Given the description of an element on the screen output the (x, y) to click on. 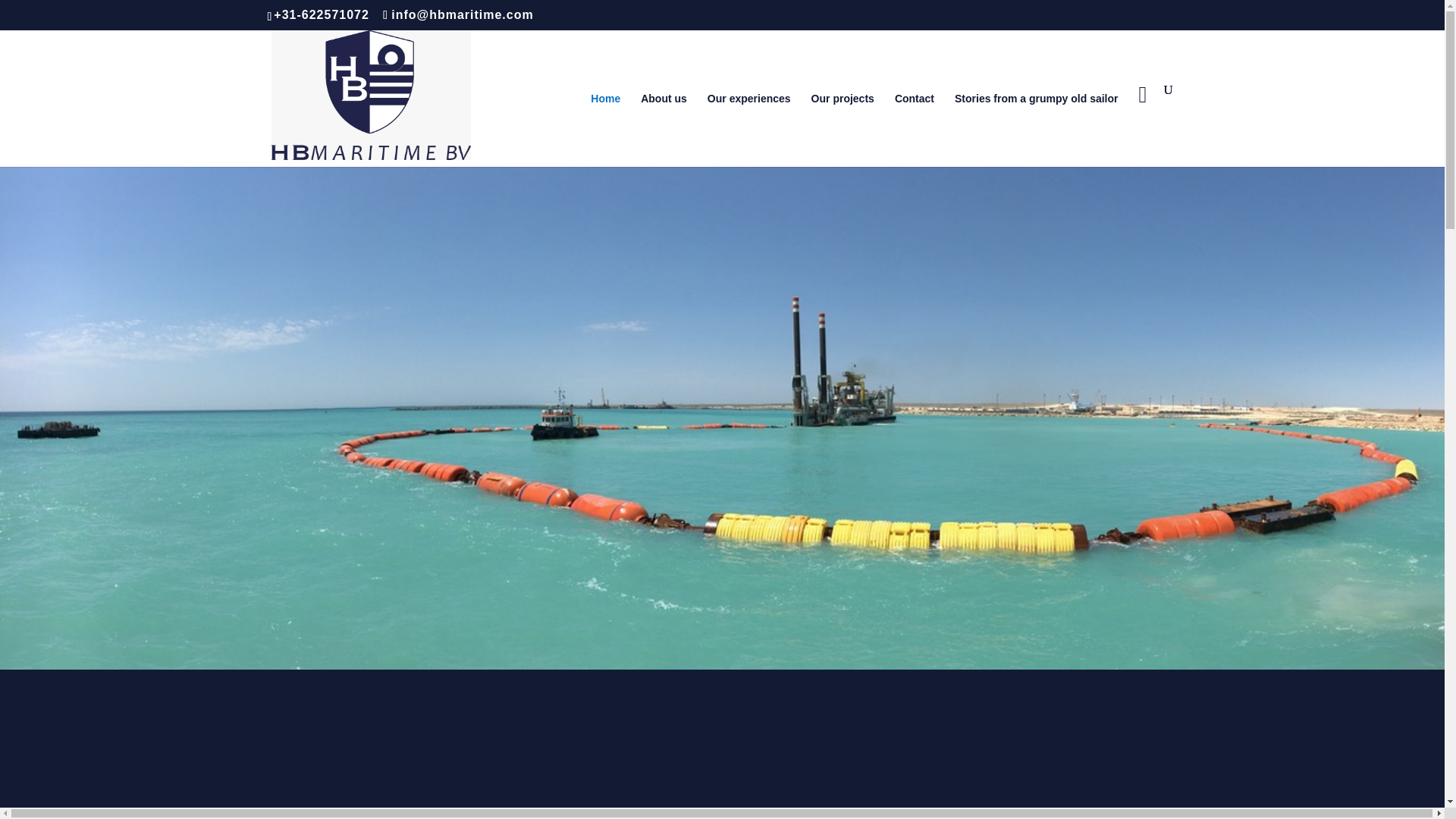
Stories from a grumpy old sailor (1036, 128)
Our experiences (748, 128)
